Given the description of an element on the screen output the (x, y) to click on. 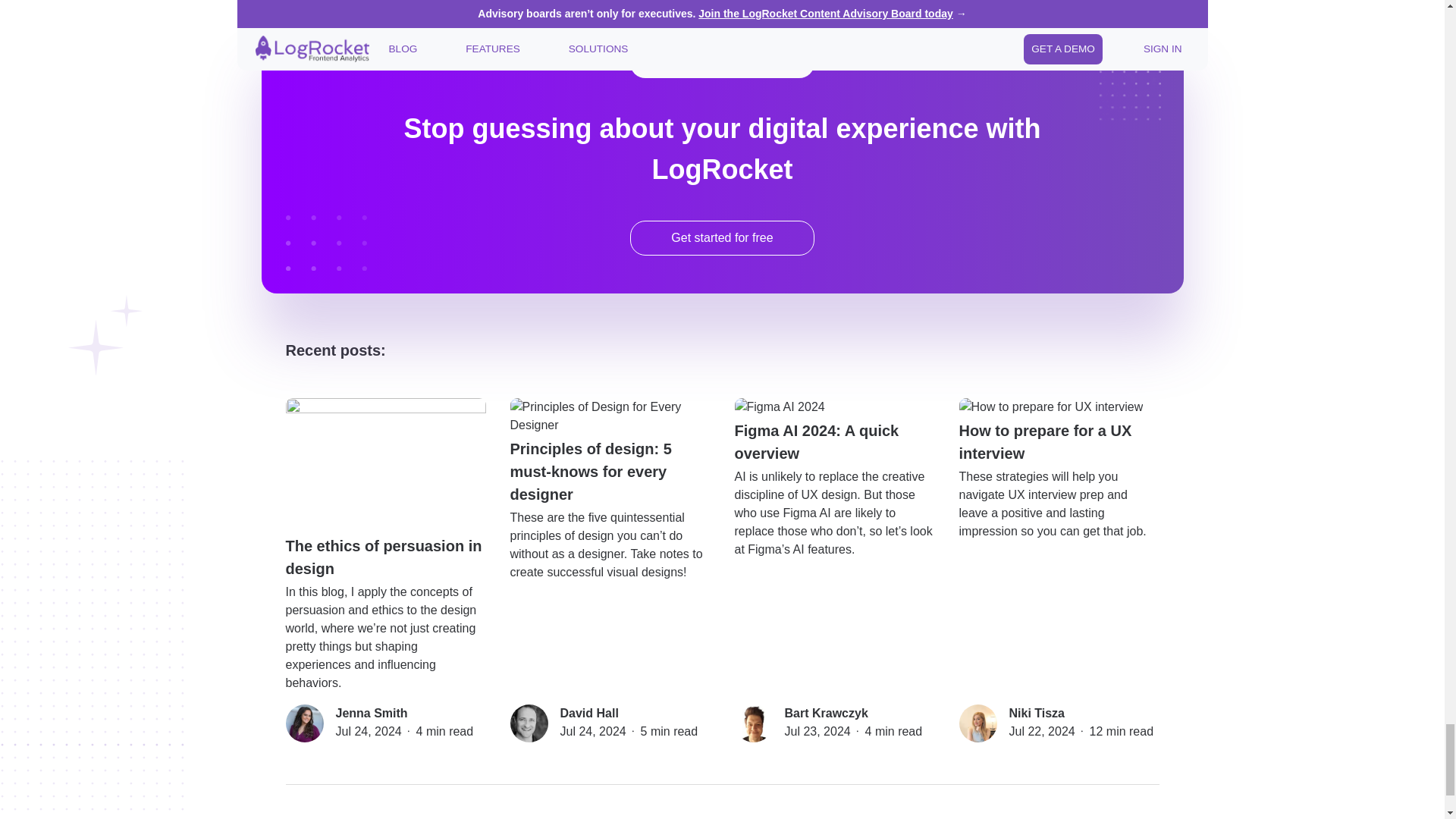
The ethics of persuasion in design (384, 488)
Jenna Smith (370, 712)
Get started for free (721, 237)
